Given the description of an element on the screen output the (x, y) to click on. 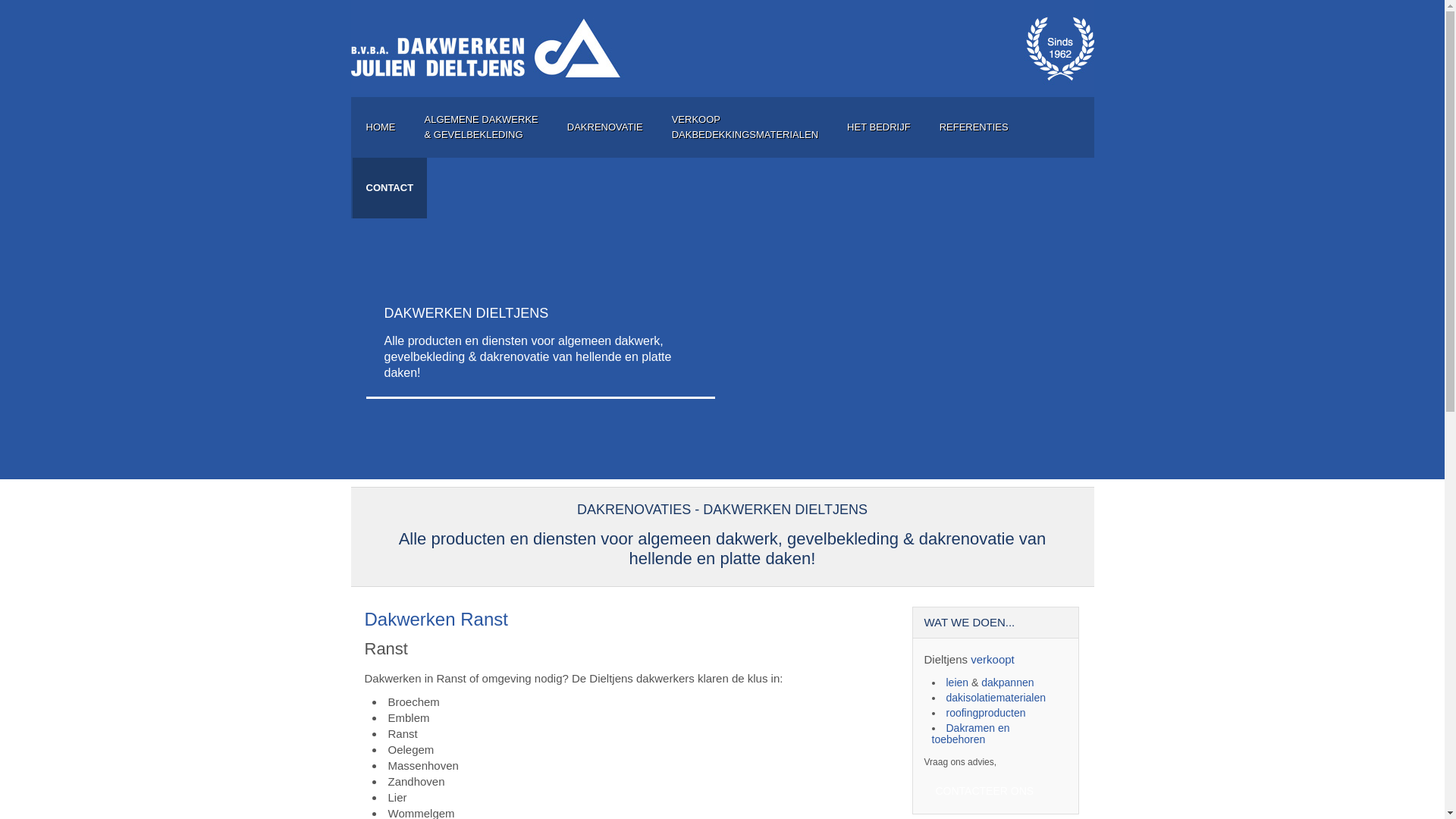
dakisolatiematerialen Element type: text (996, 697)
DAKRENOVATIE Element type: text (604, 127)
ALGEMENE DAKWERKE
& GEVELBEKLEDING Element type: text (481, 127)
roofingproducten Element type: text (986, 712)
leien Element type: text (957, 682)
Dakwerken Ranst Element type: text (435, 618)
REFERENTIES Element type: text (973, 127)
CONTACT Element type: text (388, 187)
verkoopt Element type: text (992, 658)
dakpannen Element type: text (1007, 682)
CONTACTEER ONS Element type: text (983, 790)
Dakramen en toebehoren Element type: text (970, 733)
VERKOOP
DAKBEDEKKINGSMATERIALEN Element type: text (744, 127)
HOME Element type: text (379, 127)
HET BEDRIJF Element type: text (878, 127)
